Given the description of an element on the screen output the (x, y) to click on. 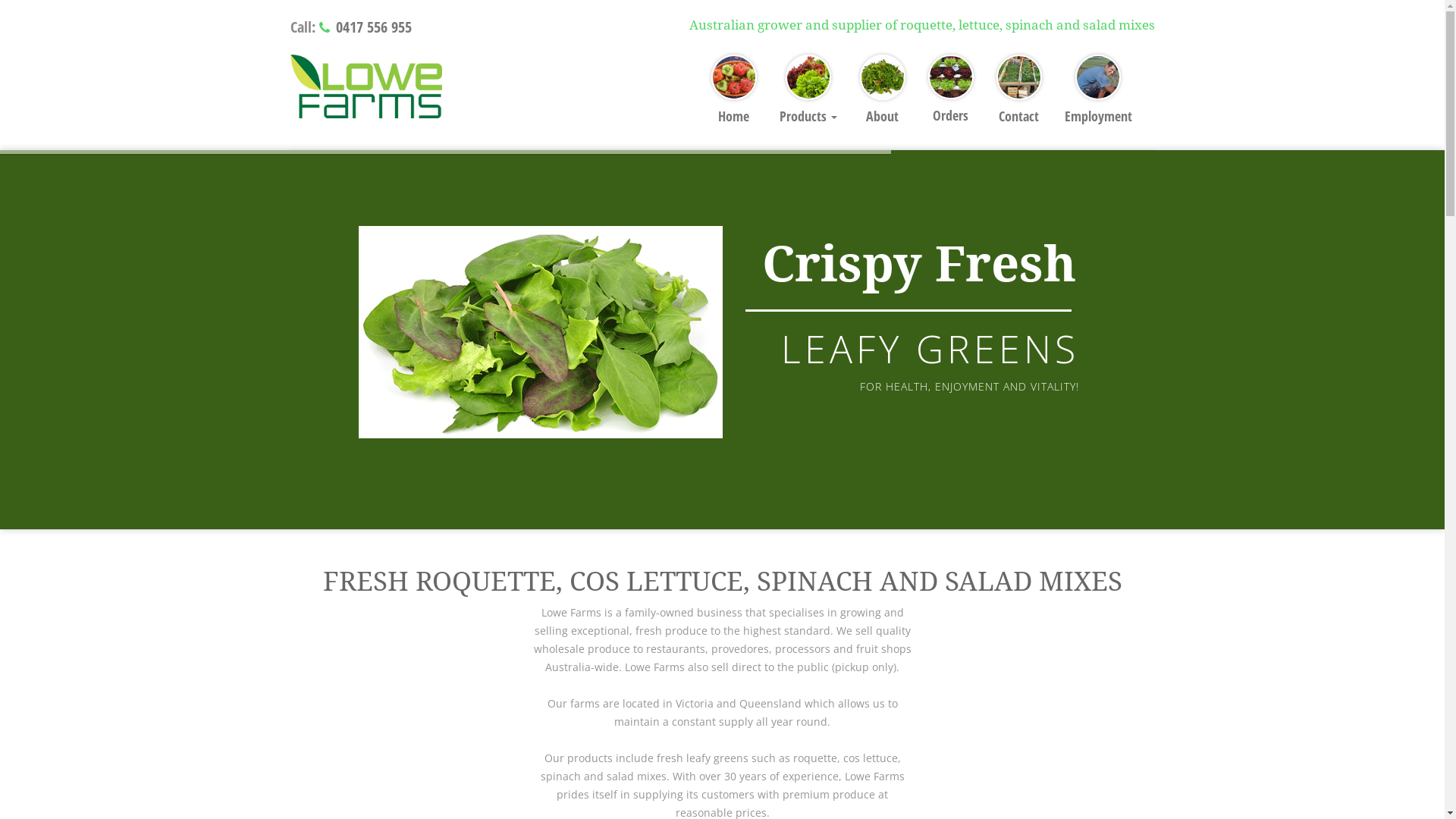
Wild roquette Element type: text (431, 316)
Employment Element type: text (1097, 96)
Cos Lettuce Element type: text (423, 430)
Factory Spinach Element type: text (439, 505)
Spinach Element type: text (409, 392)
Contact Element type: text (1018, 96)
Home Element type: text (733, 96)
0417 556 955 Element type: text (373, 26)
Salad mixes Element type: text (424, 354)
Ready to serve products Element type: text (469, 468)
About Element type: text (881, 96)
Orders Element type: text (950, 96)
Products Element type: text (807, 96)
